Given the description of an element on the screen output the (x, y) to click on. 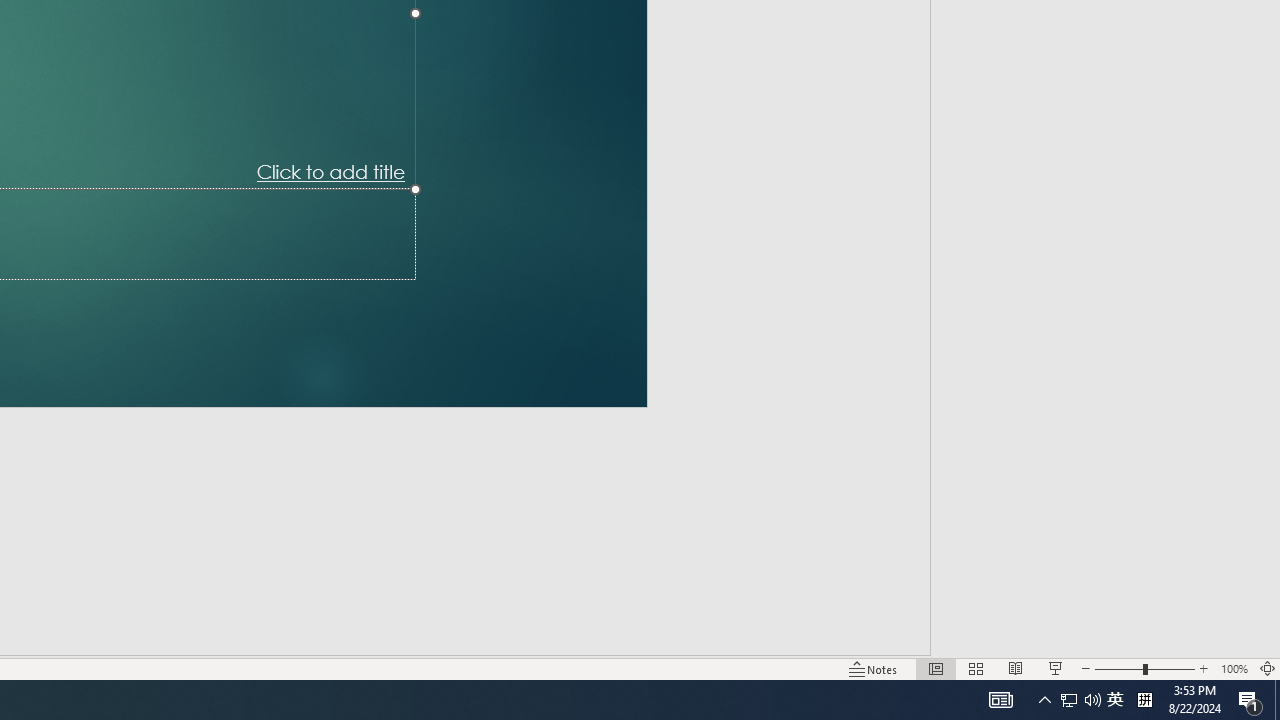
Action Center, 1 new notification (1250, 699)
Zoom 100% (1234, 668)
